Given the description of an element on the screen output the (x, y) to click on. 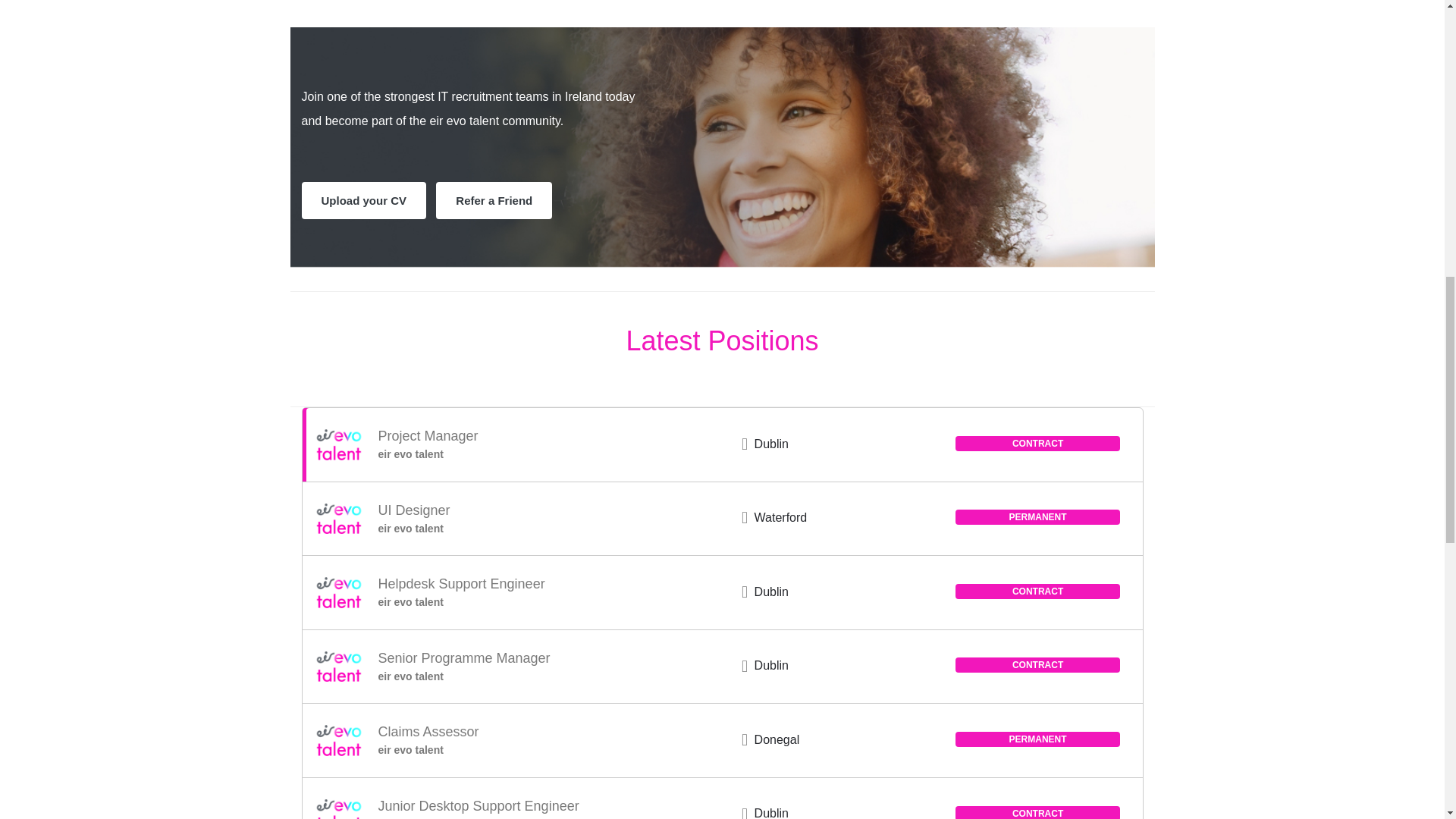
Dublin (771, 665)
Donegal (776, 739)
Dublin (771, 443)
Dublin (771, 591)
Refer a Friend (493, 200)
Waterford (781, 517)
Upload your CV (363, 200)
Latest Positions (722, 340)
Dublin (771, 812)
